Given the description of an element on the screen output the (x, y) to click on. 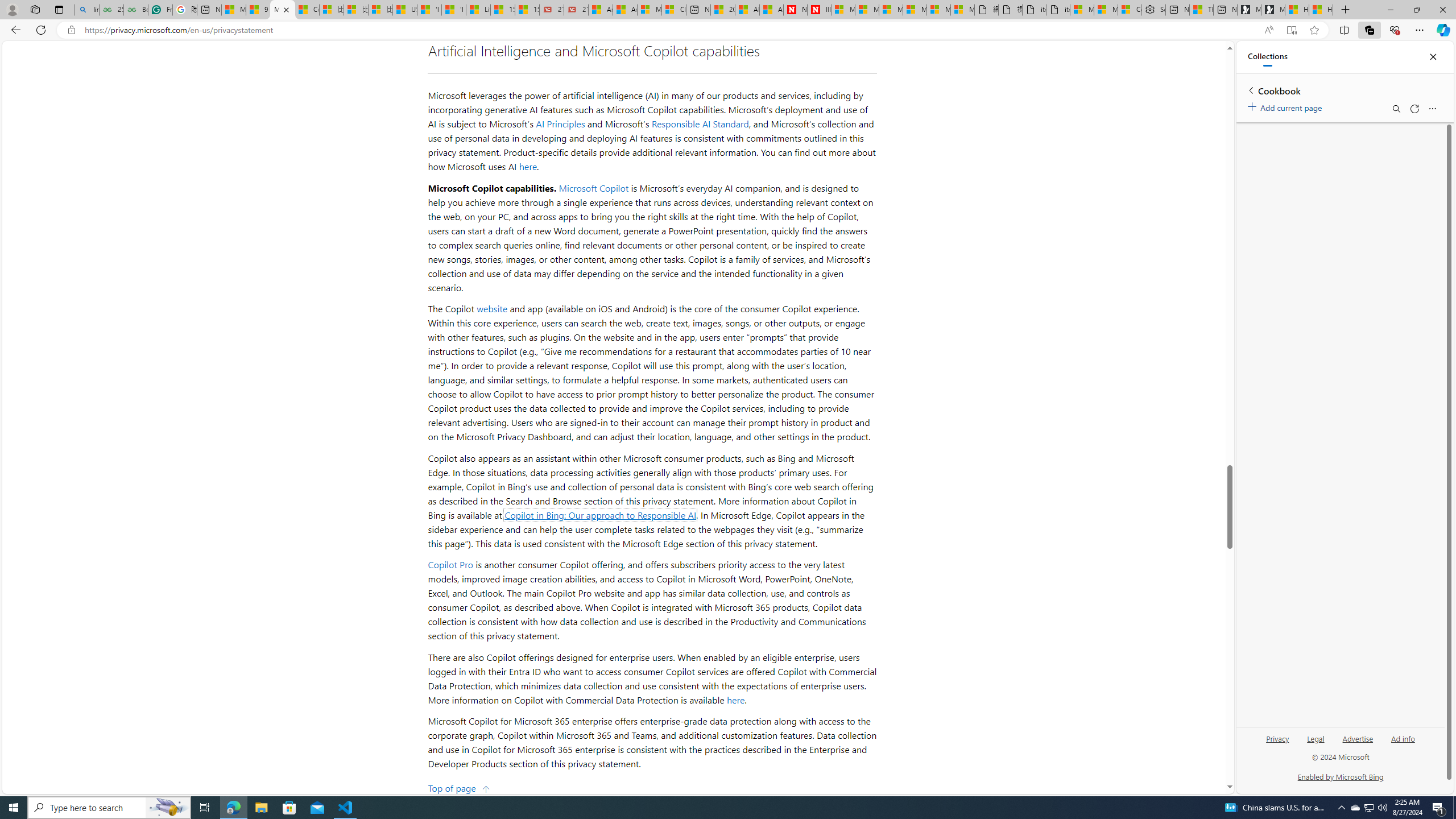
website (492, 308)
here (735, 699)
Three Ways To Stop Sweating So Much (1201, 9)
How to Use a TV as a Computer Monitor (1321, 9)
itconcepthk.com/projector_solutions.mp4 (1057, 9)
Lifestyle - MSN (478, 9)
